Given the description of an element on the screen output the (x, y) to click on. 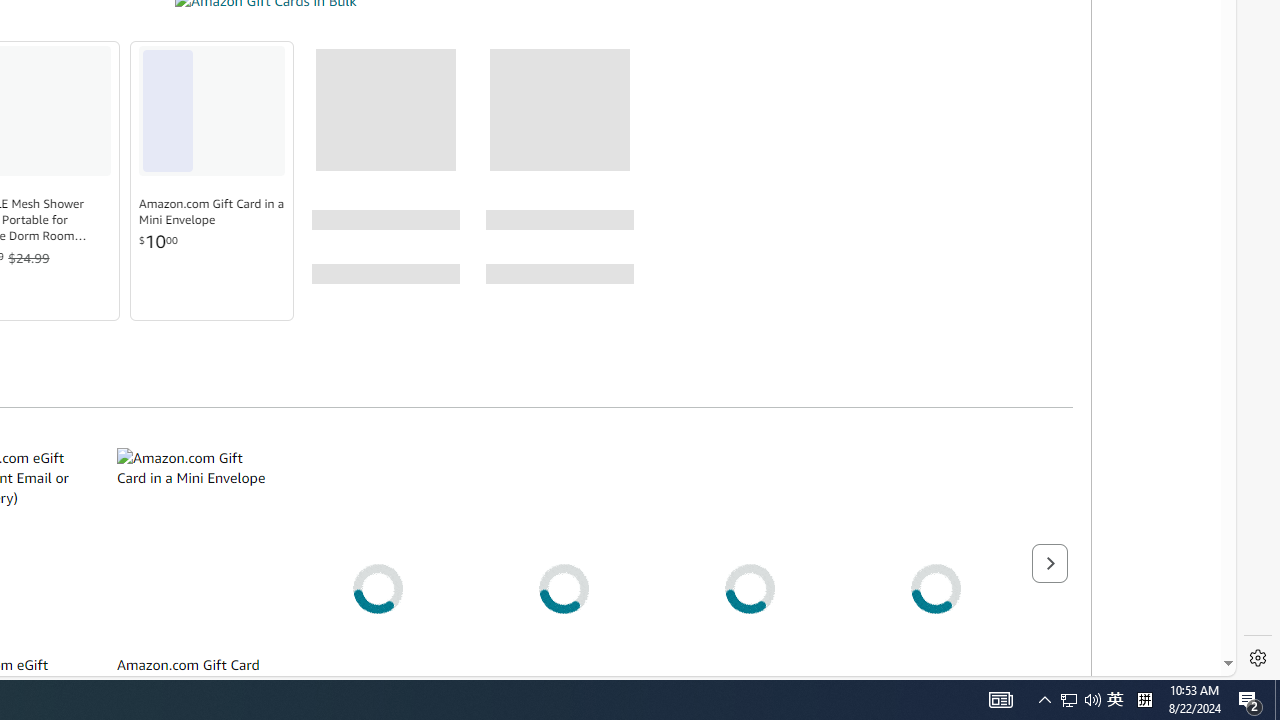
Amazon.com Gift Card in a Mini Envelope (191, 546)
Amazon.com Gift Card in a Mini Envelope (212, 211)
Next page (1049, 562)
